Given the description of an element on the screen output the (x, y) to click on. 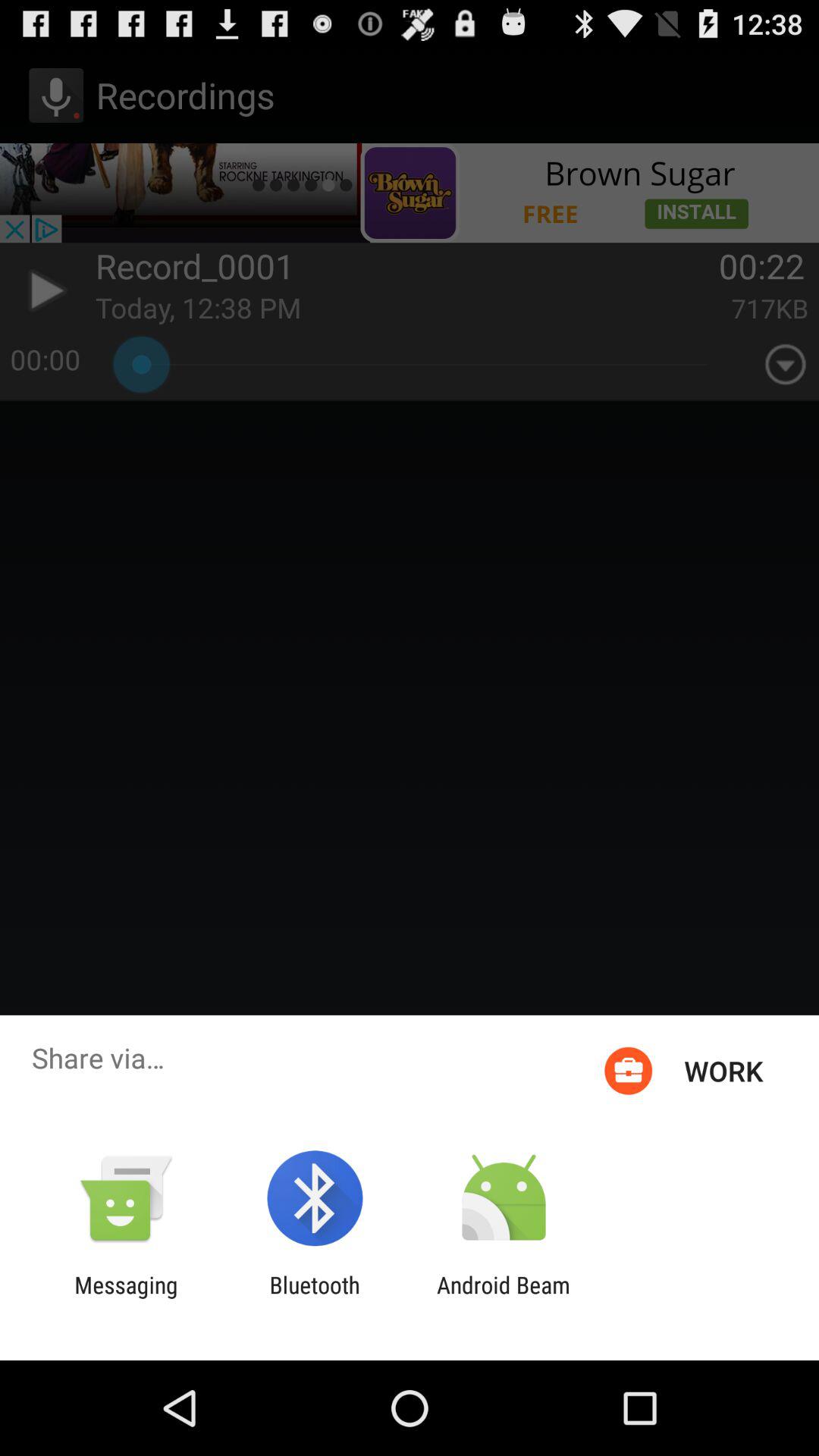
turn off the item to the left of the bluetooth (126, 1298)
